Given the description of an element on the screen output the (x, y) to click on. 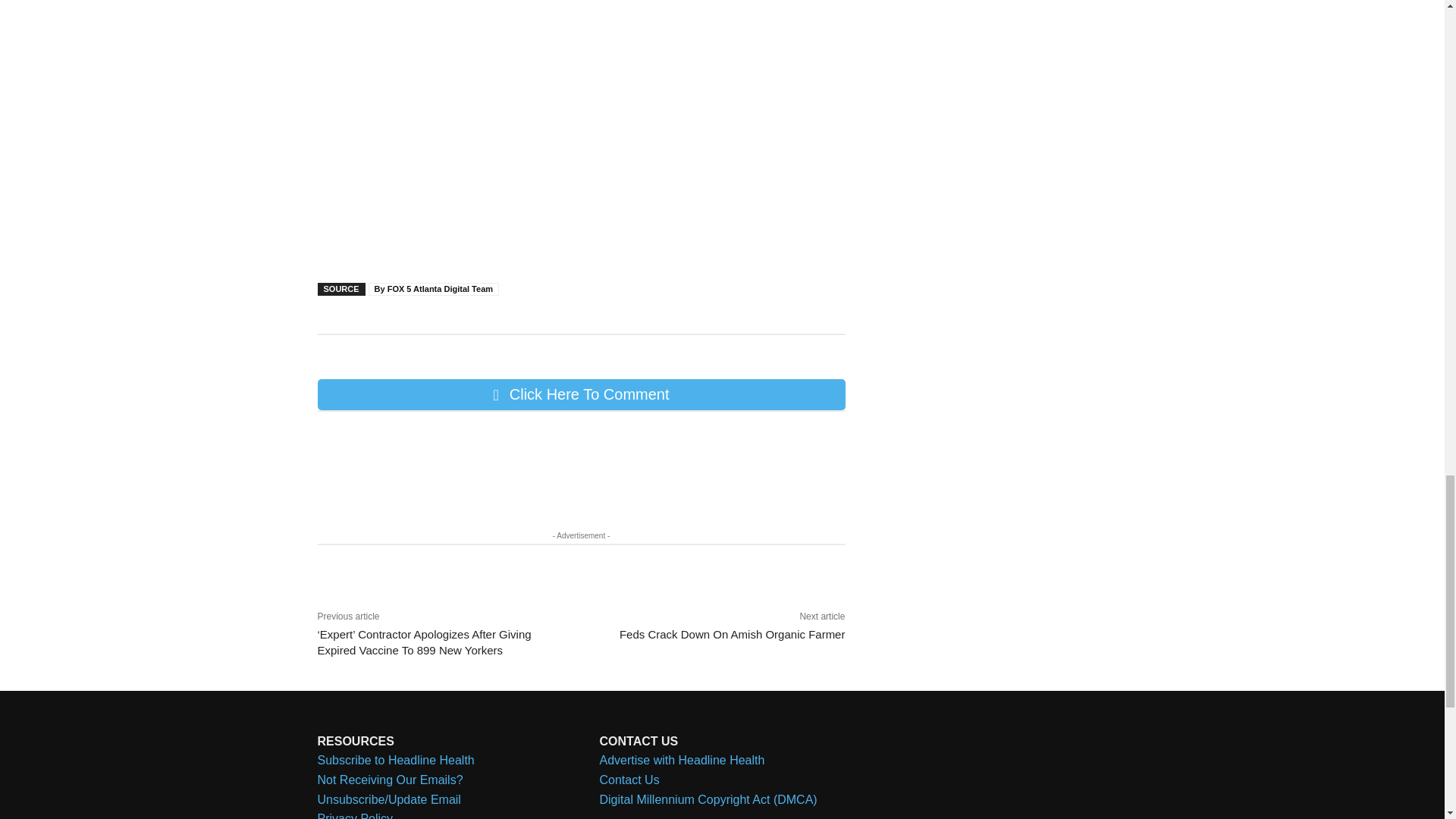
Click Here To Comment (580, 394)
